Given the description of an element on the screen output the (x, y) to click on. 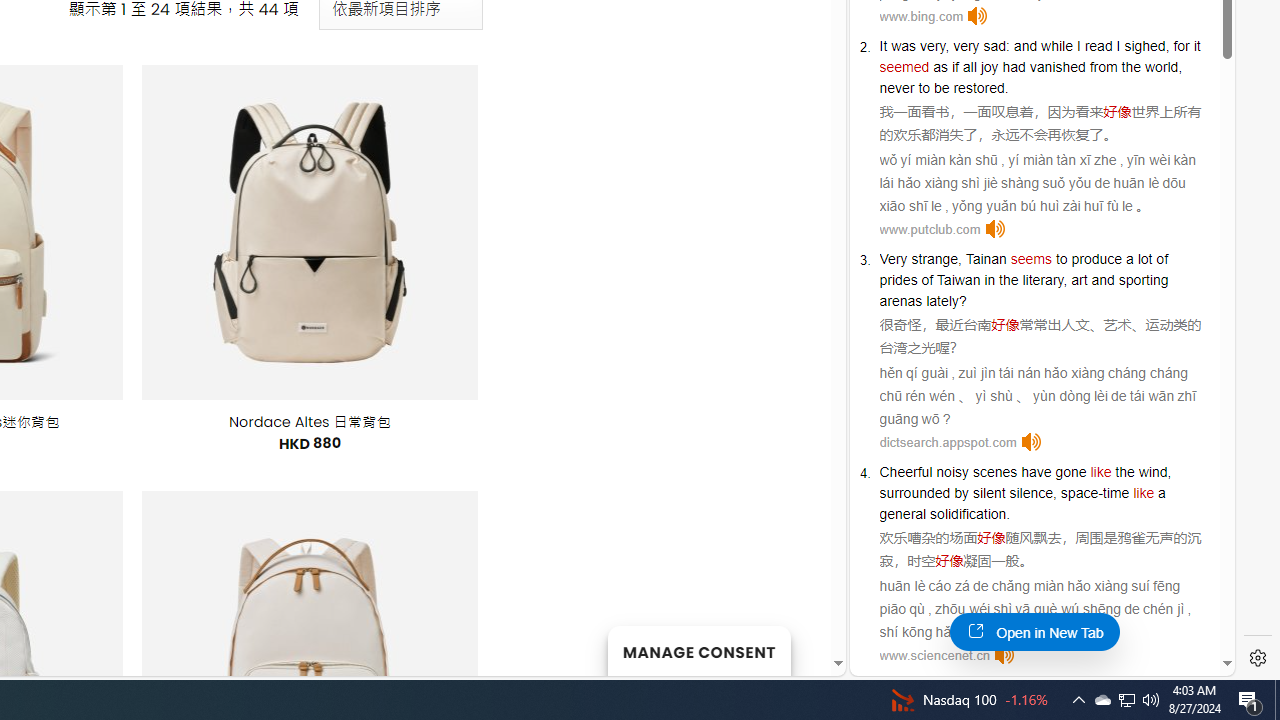
general (902, 514)
lately (941, 300)
dictsearch.appspot.com (948, 442)
joy (989, 66)
www.sciencenet.cn (934, 655)
a (1162, 493)
